Given the description of an element on the screen output the (x, y) to click on. 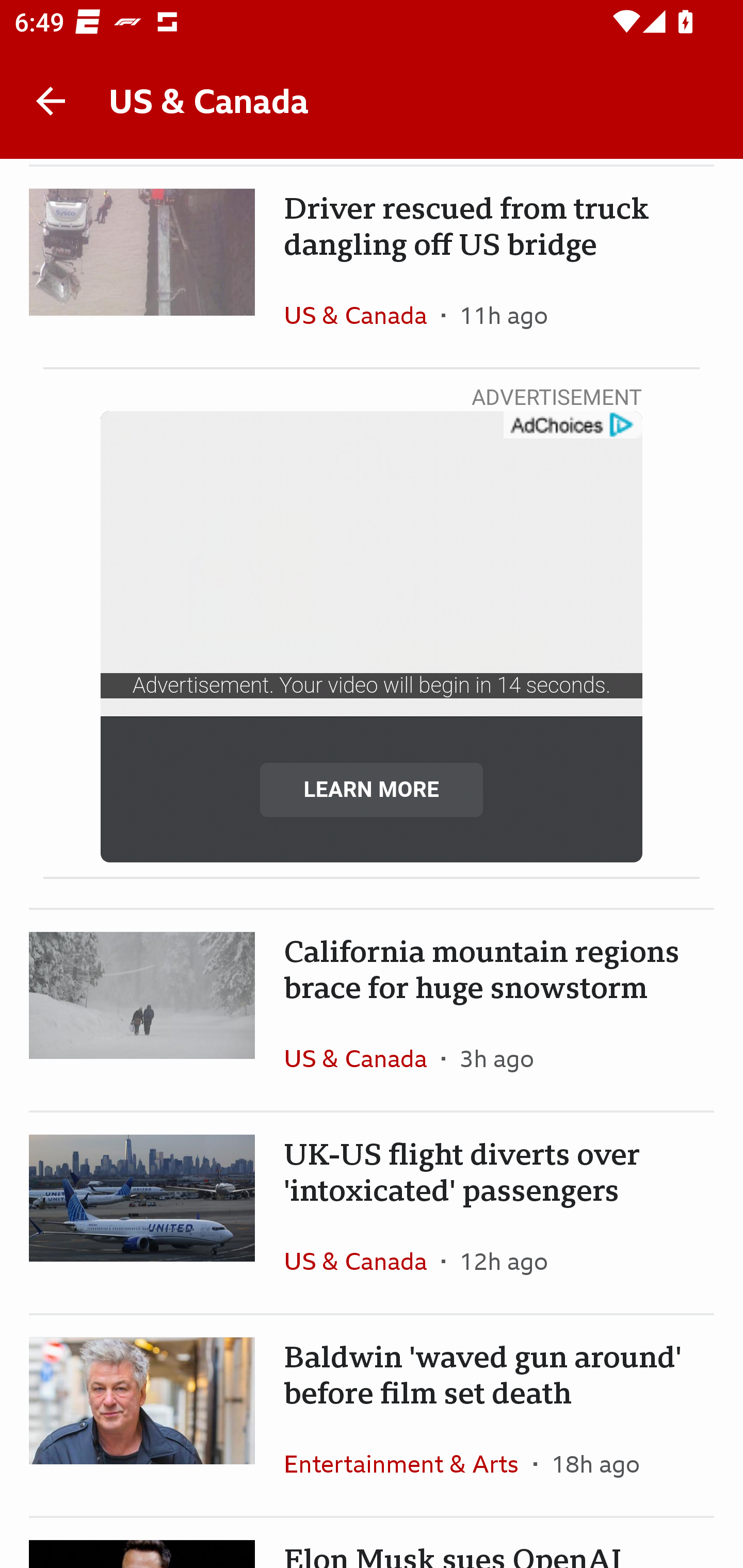
Back (50, 101)
US & Canada In the section US & Canada (362, 314)
get?name=admarker-full-tl (571, 425)
LEARN MORE (371, 789)
US & Canada In the section US & Canada (362, 1058)
US & Canada In the section US & Canada (362, 1260)
